Given the description of an element on the screen output the (x, y) to click on. 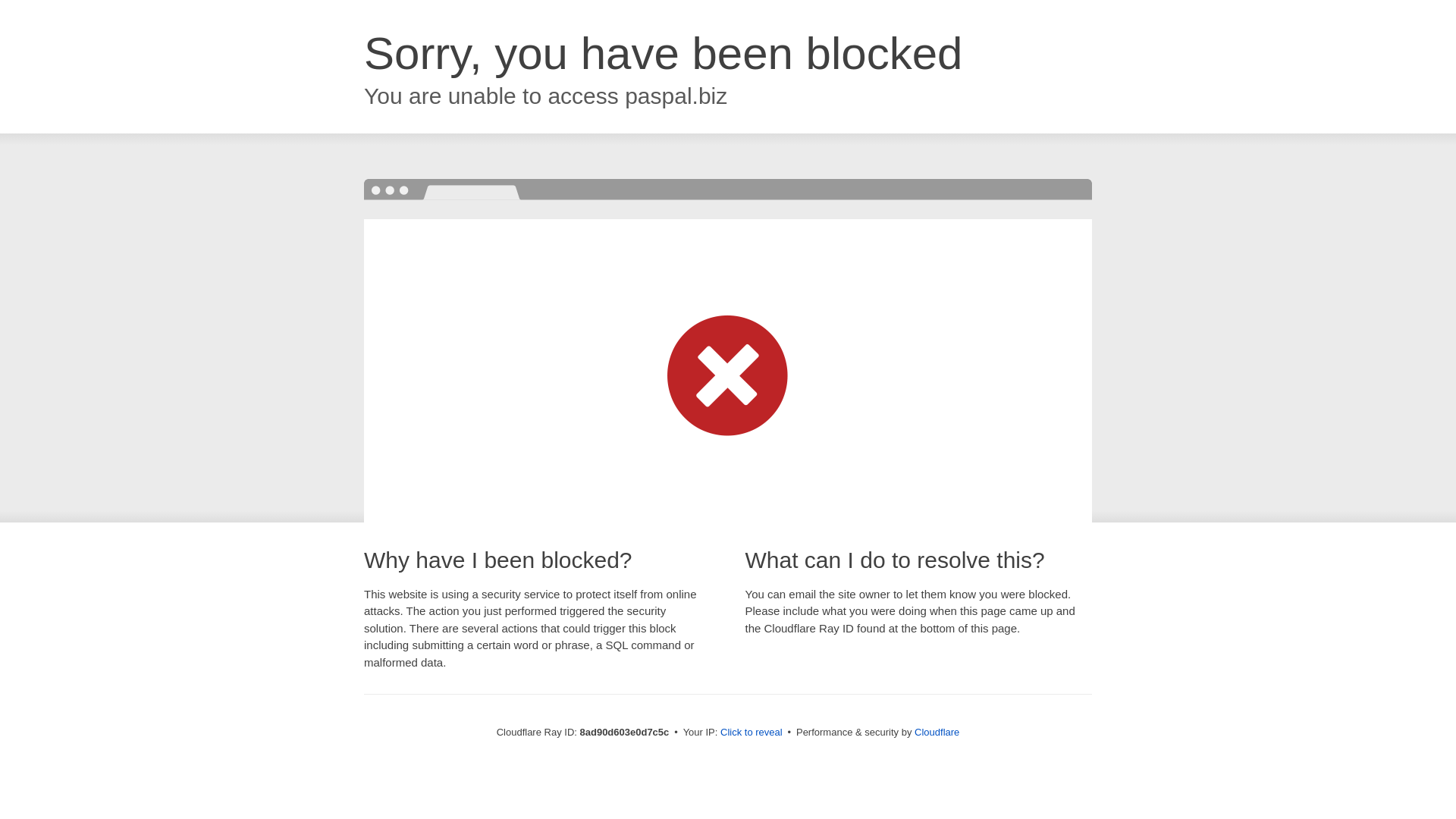
Cloudflare (936, 731)
Click to reveal (751, 732)
